Given the description of an element on the screen output the (x, y) to click on. 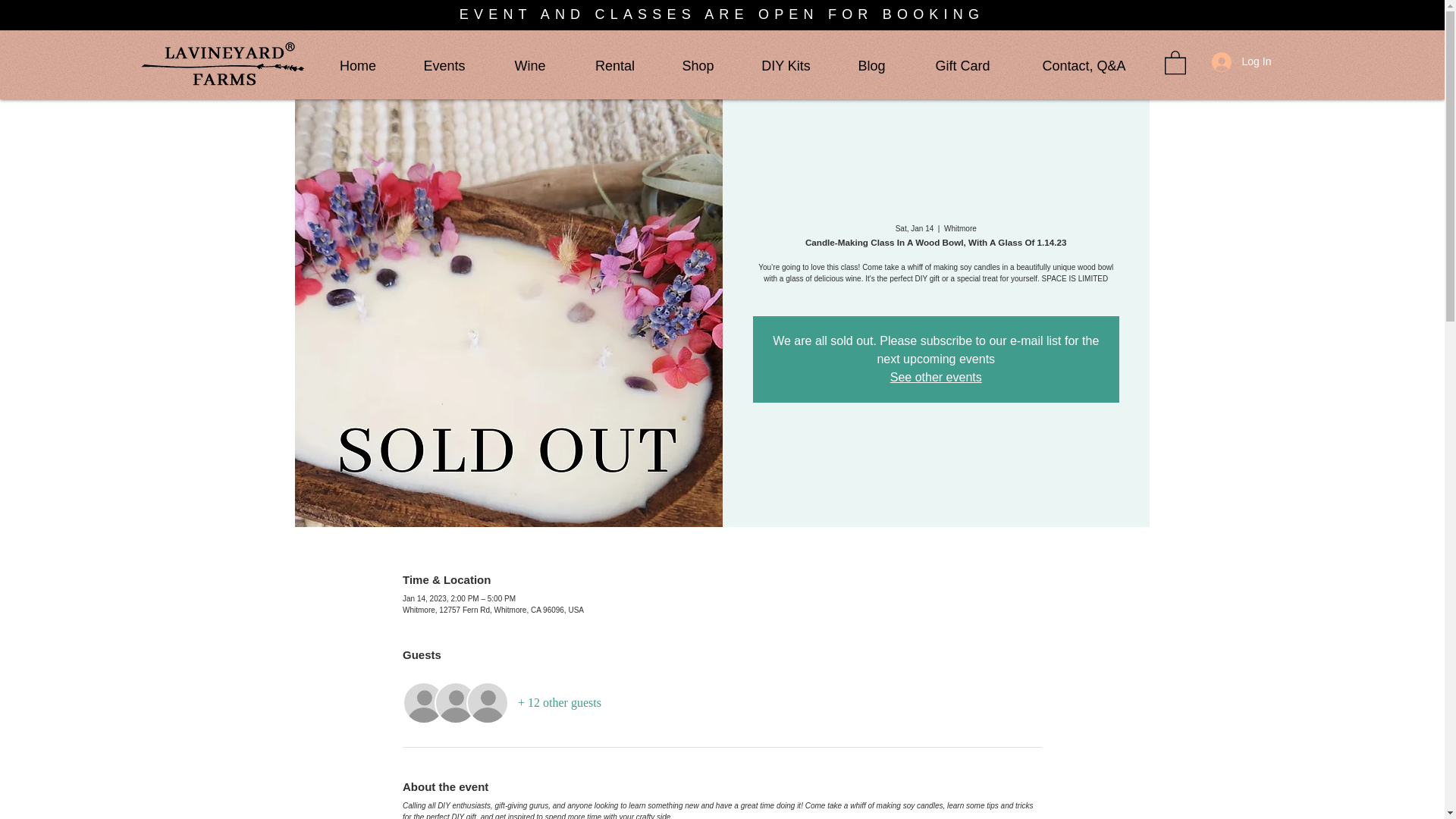
Log In (1238, 61)
Shop (698, 65)
Blog (872, 65)
Gift Card (963, 65)
Home (358, 65)
See other events (935, 377)
Events (443, 65)
DIY Kits (786, 65)
Wine (529, 65)
Rental (615, 65)
